Given the description of an element on the screen output the (x, y) to click on. 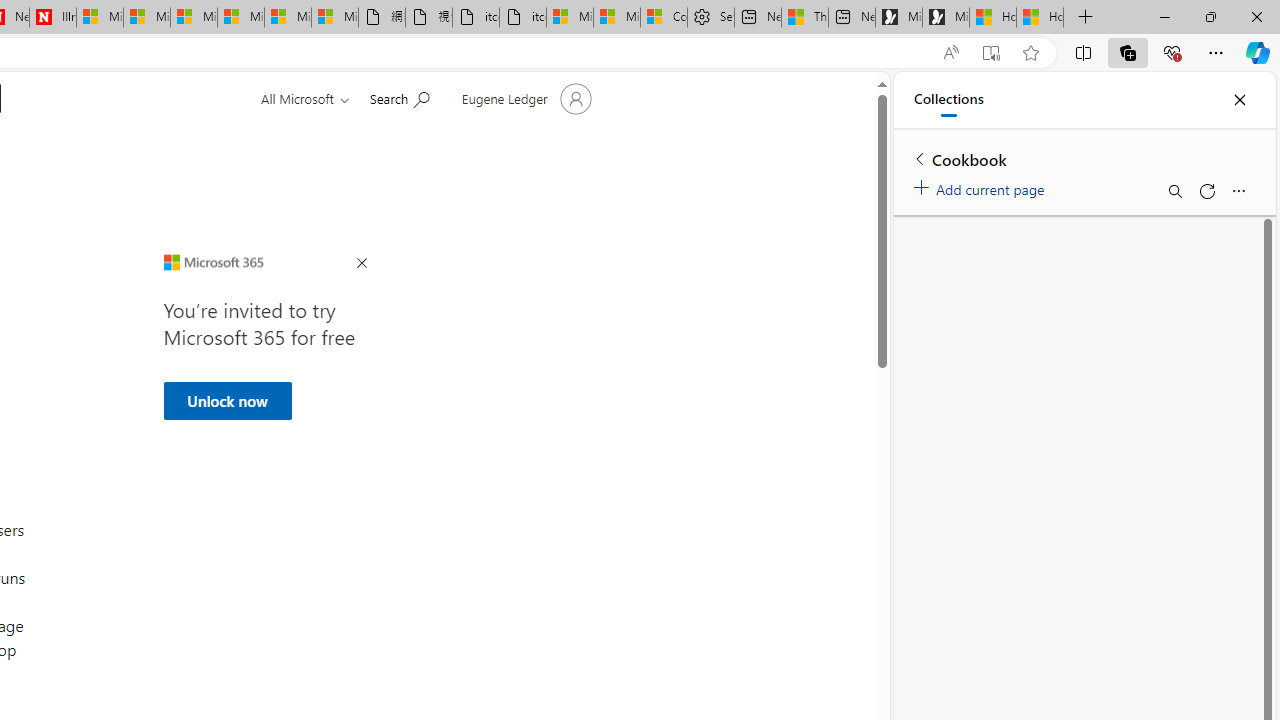
More options menu (1238, 190)
Add current page (982, 186)
